Given the description of an element on the screen output the (x, y) to click on. 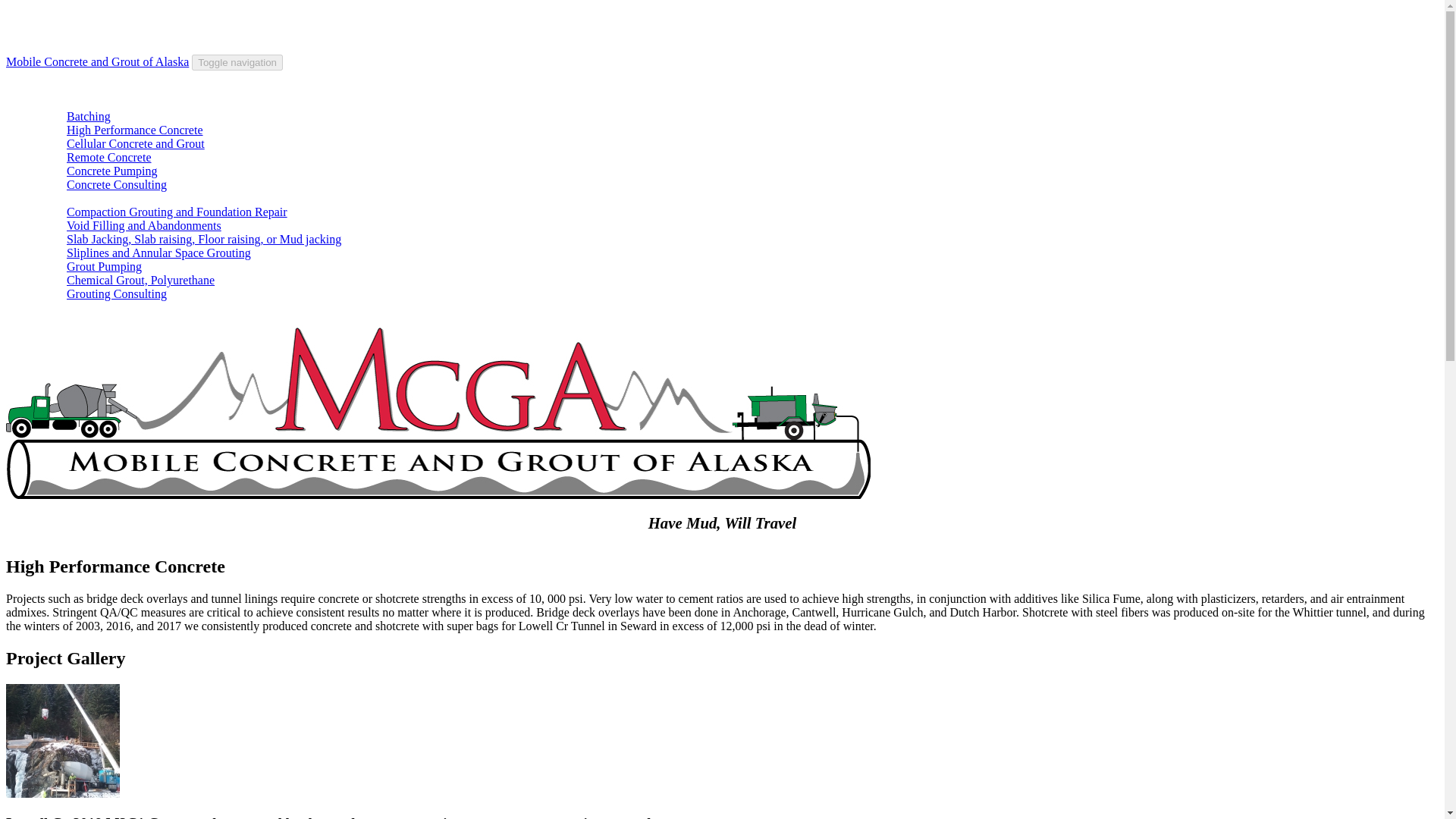
Batching (88, 115)
Concrete Consulting (116, 184)
Concrete Services (79, 102)
High Performance Concrete (134, 129)
Concrete Services (79, 102)
Grout Pumping (103, 266)
Void Filling and Abandonments (143, 225)
Remote Concrete (108, 156)
Mobile Concrete and Grout of Alaska (97, 61)
Cellular Concrete and Grout (135, 143)
Batching (88, 115)
Compaction Grouting and Foundation Repair (176, 211)
Slab Jacking, Slab raising, Floor raising, or Mud jacking (203, 238)
Chemical Grout, Polyurethane (140, 279)
